Given the description of an element on the screen output the (x, y) to click on. 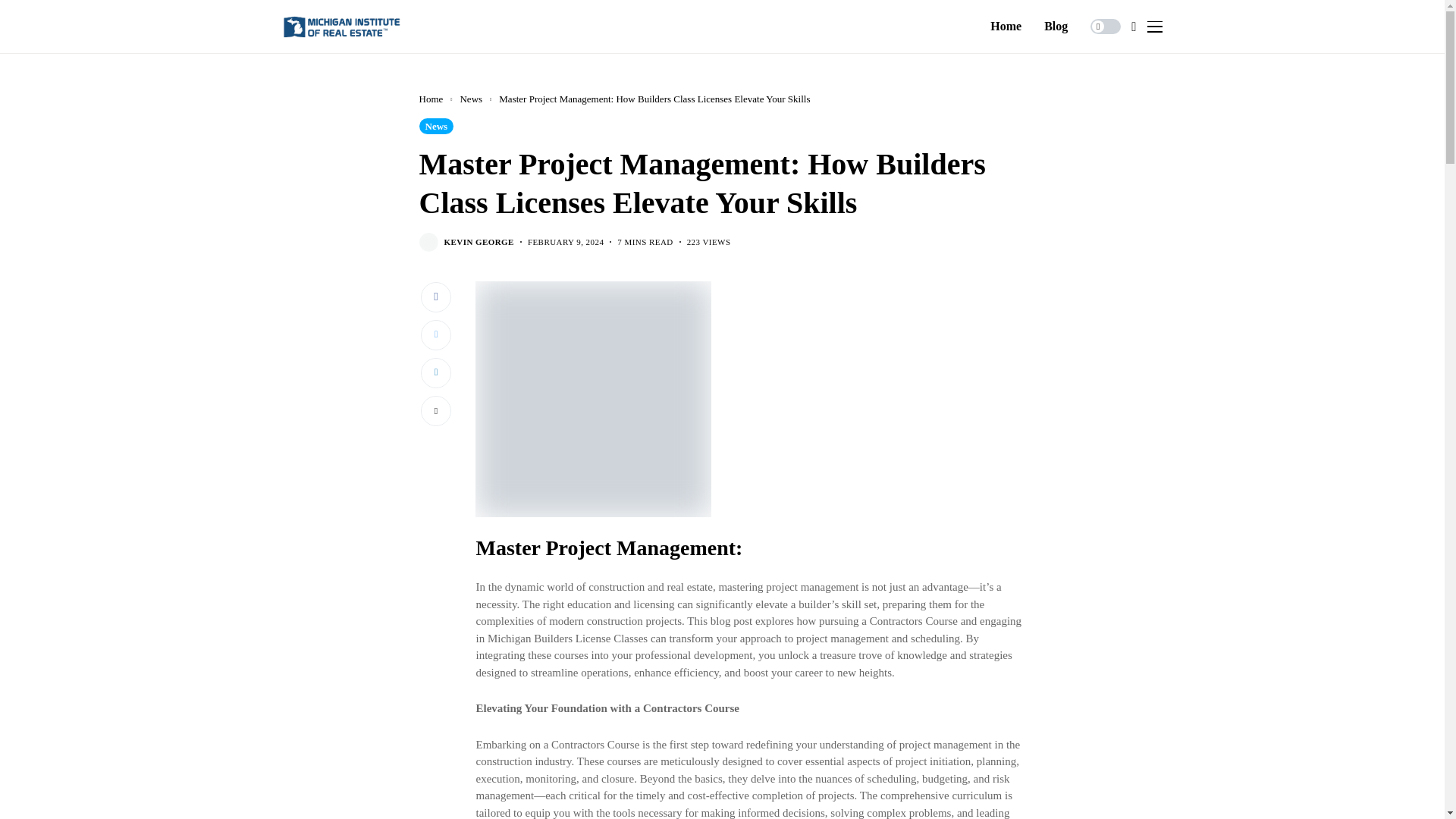
Home (430, 98)
News (470, 98)
Posts by Kevin George (478, 242)
Home (1006, 26)
KEVIN GEORGE (478, 242)
News (435, 126)
Blog (1055, 26)
